Given the description of an element on the screen output the (x, y) to click on. 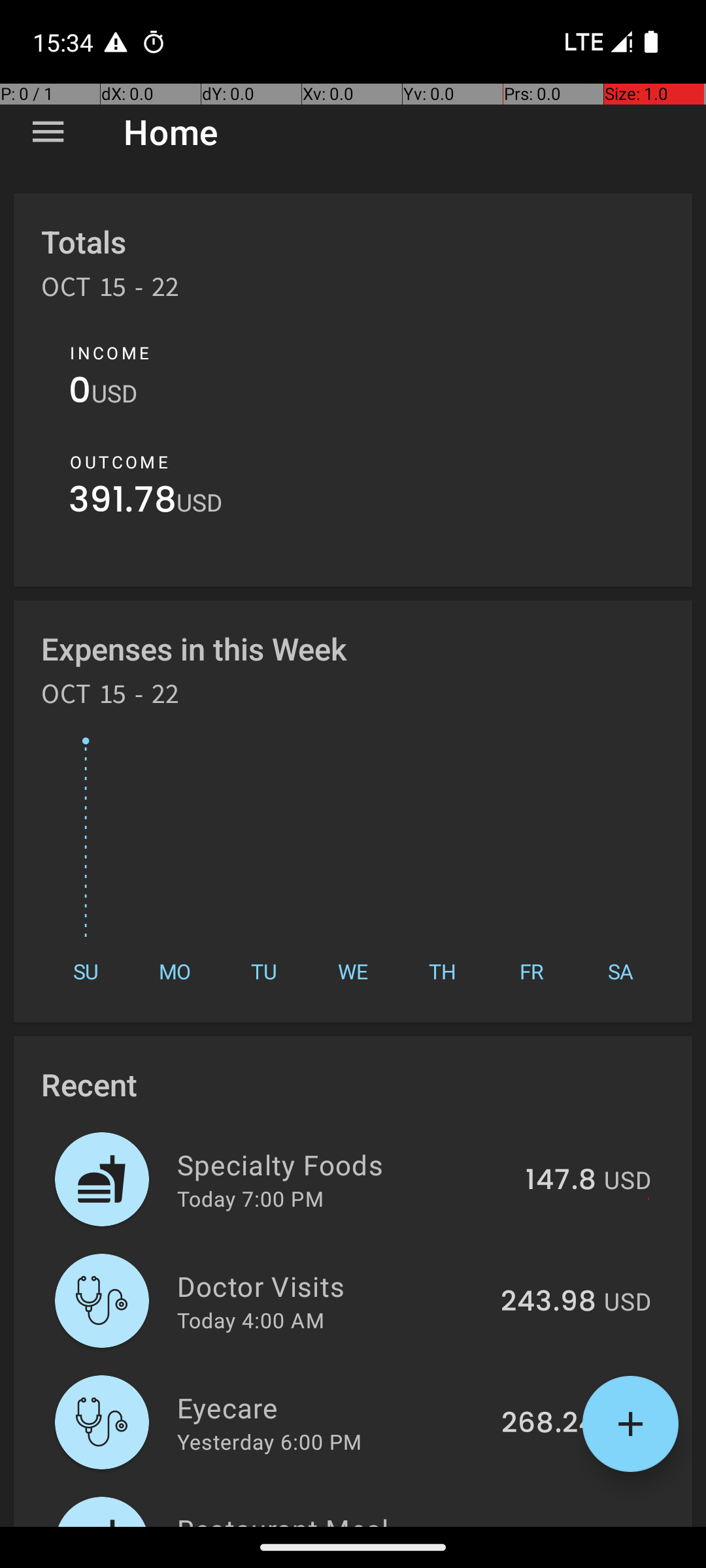
391.78 Element type: android.widget.TextView (122, 502)
Specialty Foods Element type: android.widget.TextView (343, 1164)
Today 7:00 PM Element type: android.widget.TextView (250, 1198)
147.8 Element type: android.widget.TextView (560, 1180)
Doctor Visits Element type: android.widget.TextView (331, 1285)
Today 4:00 AM Element type: android.widget.TextView (250, 1320)
243.98 Element type: android.widget.TextView (548, 1301)
Eyecare Element type: android.widget.TextView (331, 1407)
Yesterday 6:00 PM Element type: android.widget.TextView (269, 1441)
268.24 Element type: android.widget.TextView (548, 1423)
Restaurant Meal Element type: android.widget.TextView (331, 1518)
208.79 Element type: android.widget.TextView (548, 1524)
